Given the description of an element on the screen output the (x, y) to click on. 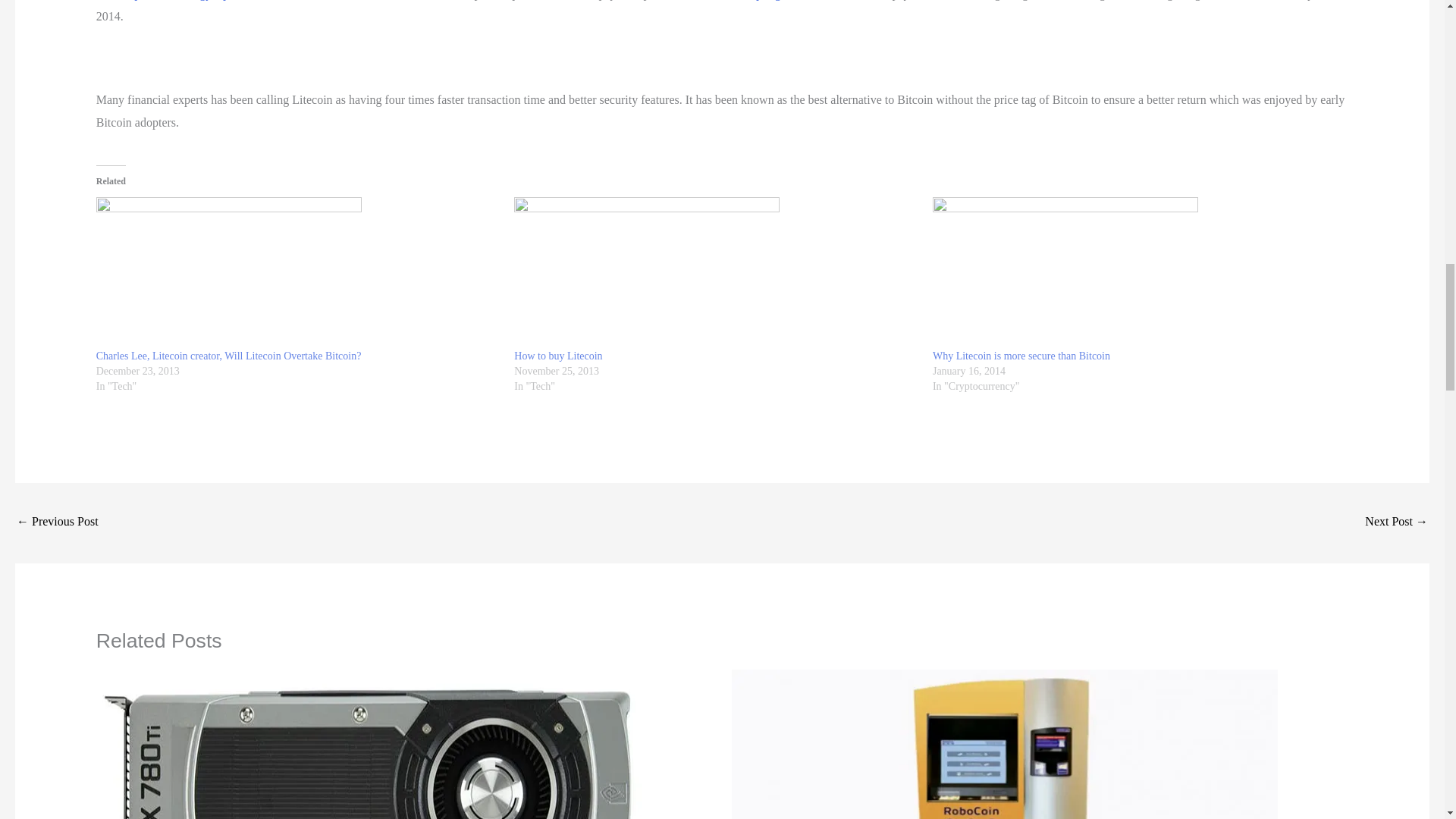
Why Litecoin is more secure than Bitcoin (1134, 272)
Robocoin is reaching out to Hong Kong and Taiwan 5 (1005, 744)
Why Litecoin is more secure than Bitcoin (1021, 355)
11 Hotels and Hostels that accept Bitcoin (1396, 522)
How to buy Litecoin (557, 355)
How to buy Litecoin (715, 272)
